Given the description of an element on the screen output the (x, y) to click on. 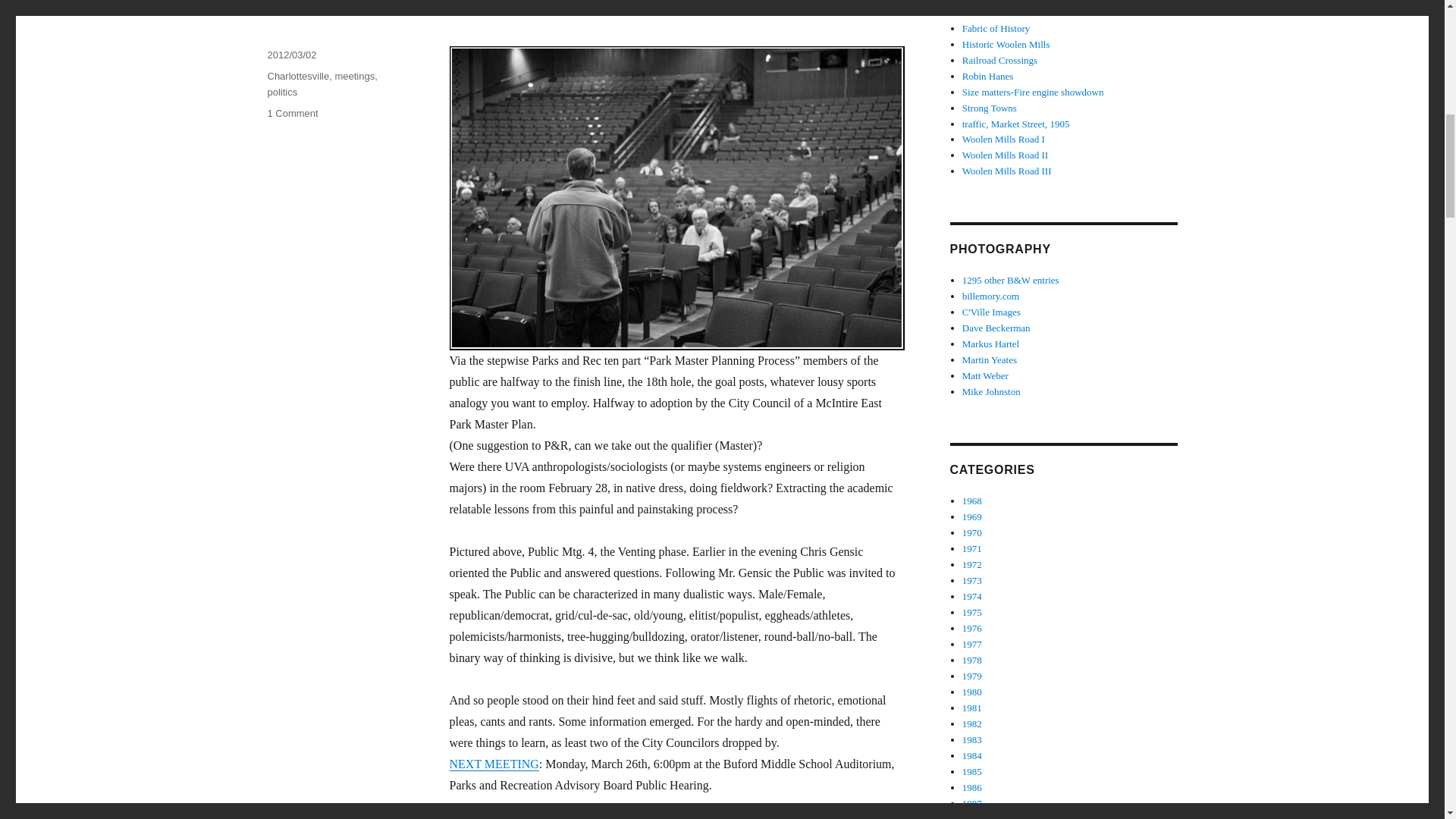
politics (291, 112)
NEXT MEETING (281, 91)
Charlottesville (493, 763)
Woolen Mills Village blog (297, 75)
meetings (996, 28)
expat RISD lady (354, 75)
Teachable Moment (996, 12)
